Given the description of an element on the screen output the (x, y) to click on. 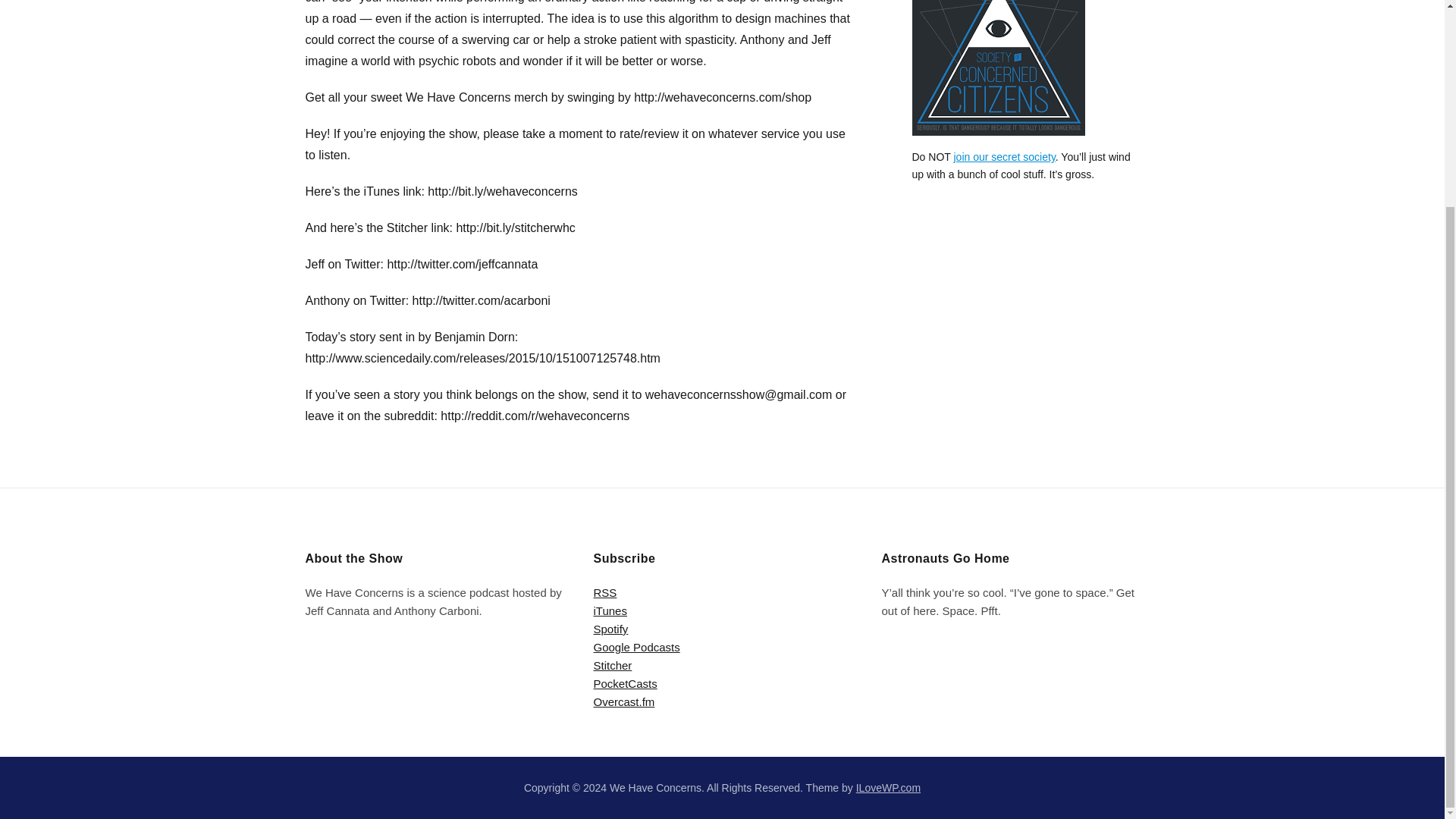
Stitcher (611, 665)
PocketCasts (624, 683)
ILoveWP.com (888, 787)
Overcast.fm (622, 701)
iTunes (609, 610)
join our secret society (1003, 156)
Google Podcasts (635, 646)
RSS (603, 592)
Spotify (609, 628)
Podcast WordPress Themes (888, 787)
